Given the description of an element on the screen output the (x, y) to click on. 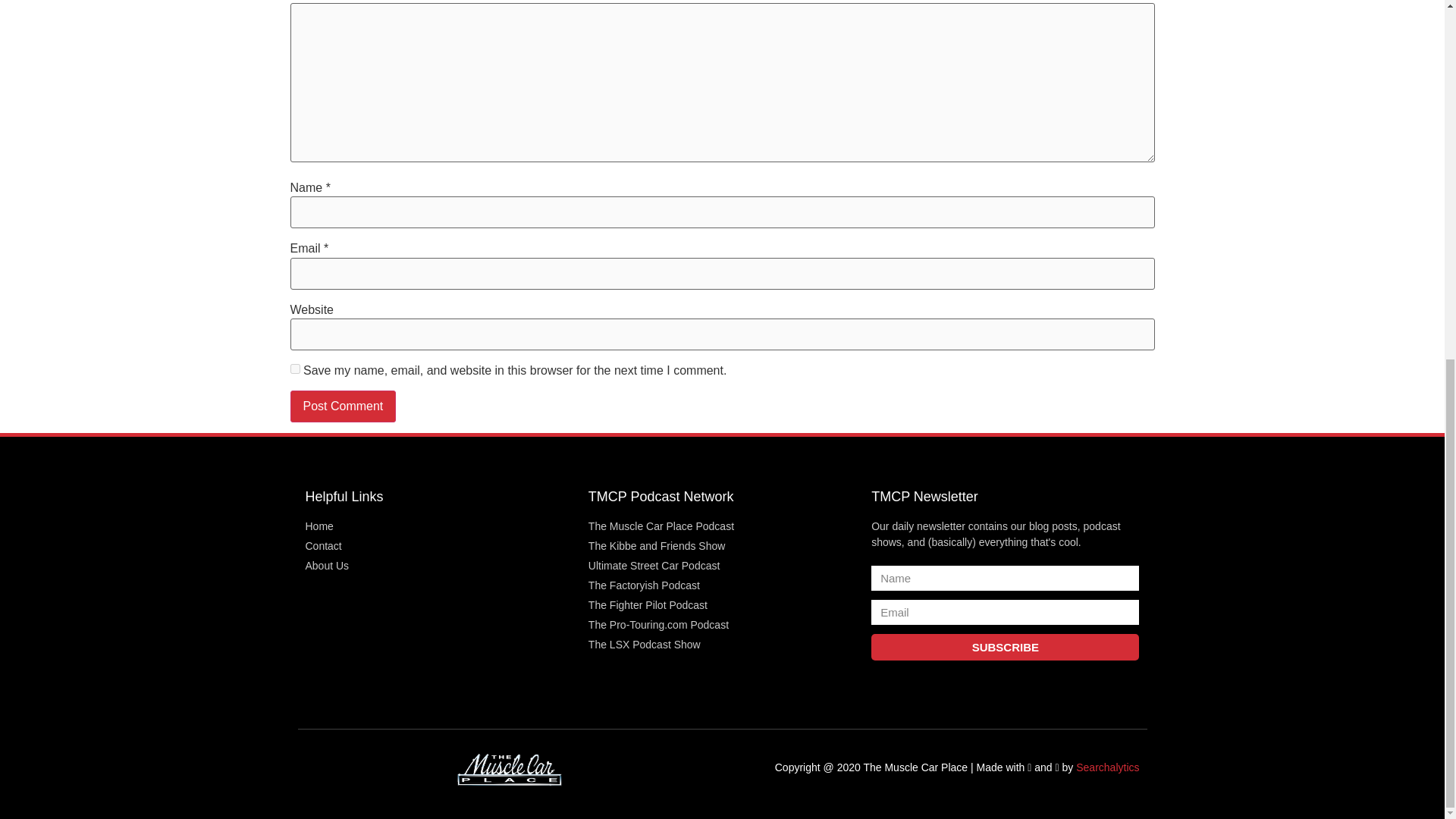
Post Comment (342, 406)
About Us (438, 565)
The Muscle Car Place Podcast (722, 526)
The Kibbe and Friends Show (722, 546)
yes (294, 368)
Ultimate Street Car Podcast (722, 565)
Contact (438, 546)
Post Comment (342, 406)
Home (438, 526)
